Given the description of an element on the screen output the (x, y) to click on. 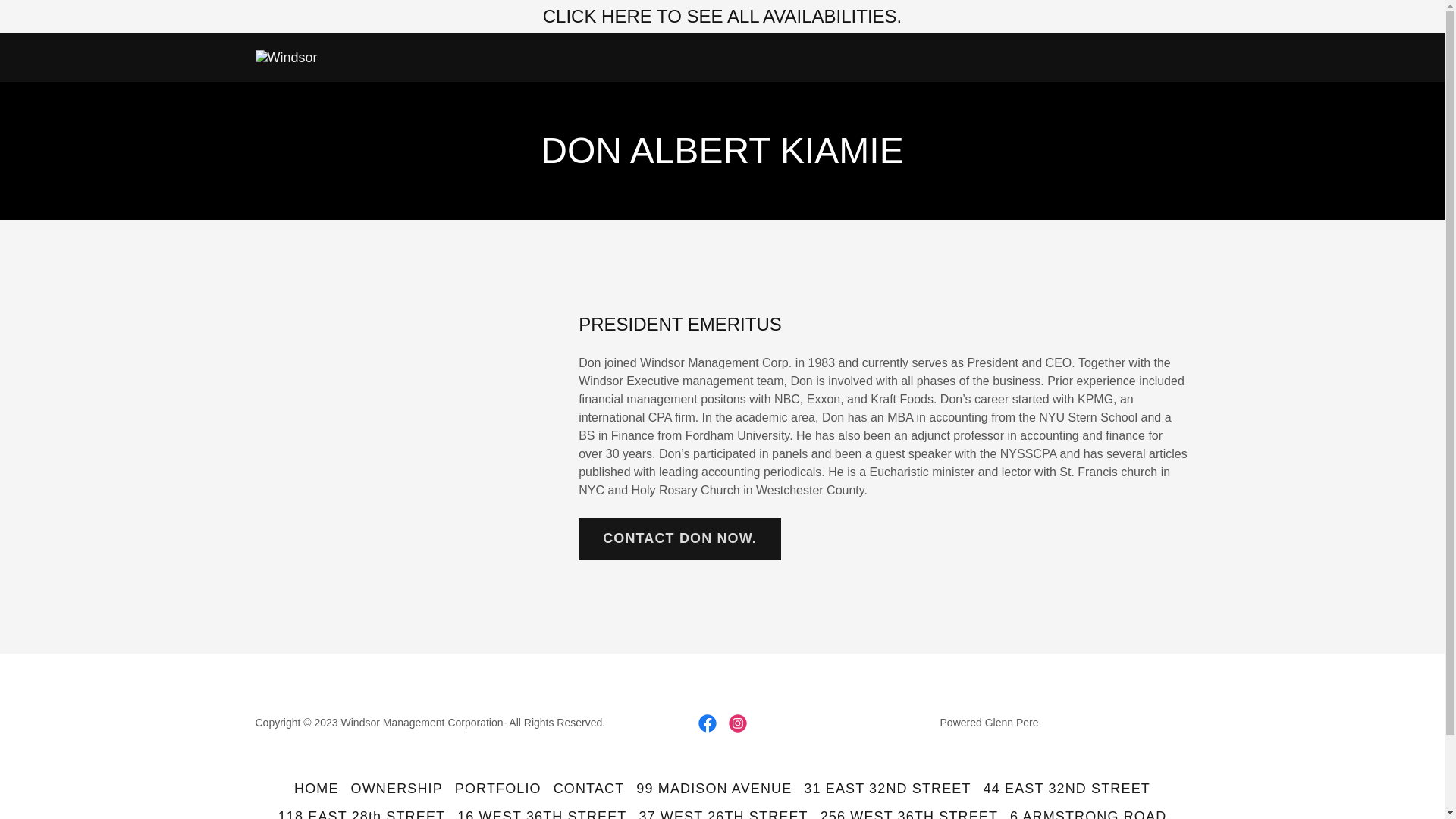
Windsor (285, 56)
31 EAST 32ND STREET (886, 788)
OWNERSHIP (396, 788)
44 EAST 32ND STREET (1066, 788)
16 WEST 36TH STREET (541, 811)
CONTACT (588, 788)
HOME (316, 788)
99 MADISON AVENUE (713, 788)
PORTFOLIO (497, 788)
256 WEST 36TH STREET (908, 811)
